Given the description of an element on the screen output the (x, y) to click on. 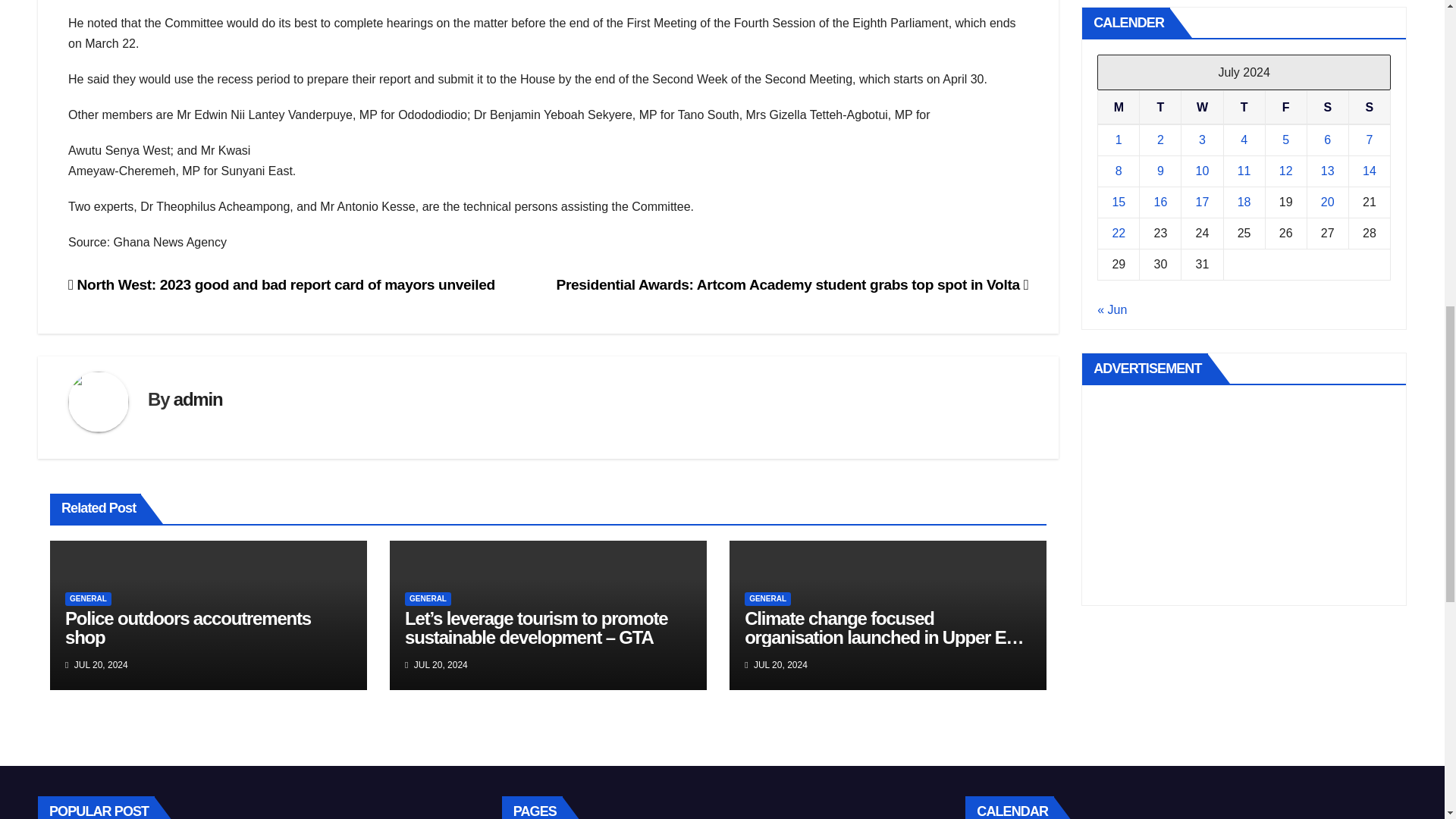
GENERAL (427, 599)
3 (1201, 139)
Permalink to: Police outdoors accoutrements shop (188, 627)
Monday (1118, 107)
North West: 2023 good and bad report card of mayors unveiled (281, 284)
Tuesday (1160, 107)
GENERAL (767, 599)
Police outdoors accoutrements shop (188, 627)
4 (1243, 139)
GENERAL (88, 599)
admin (197, 399)
2 (1160, 139)
